Given the description of an element on the screen output the (x, y) to click on. 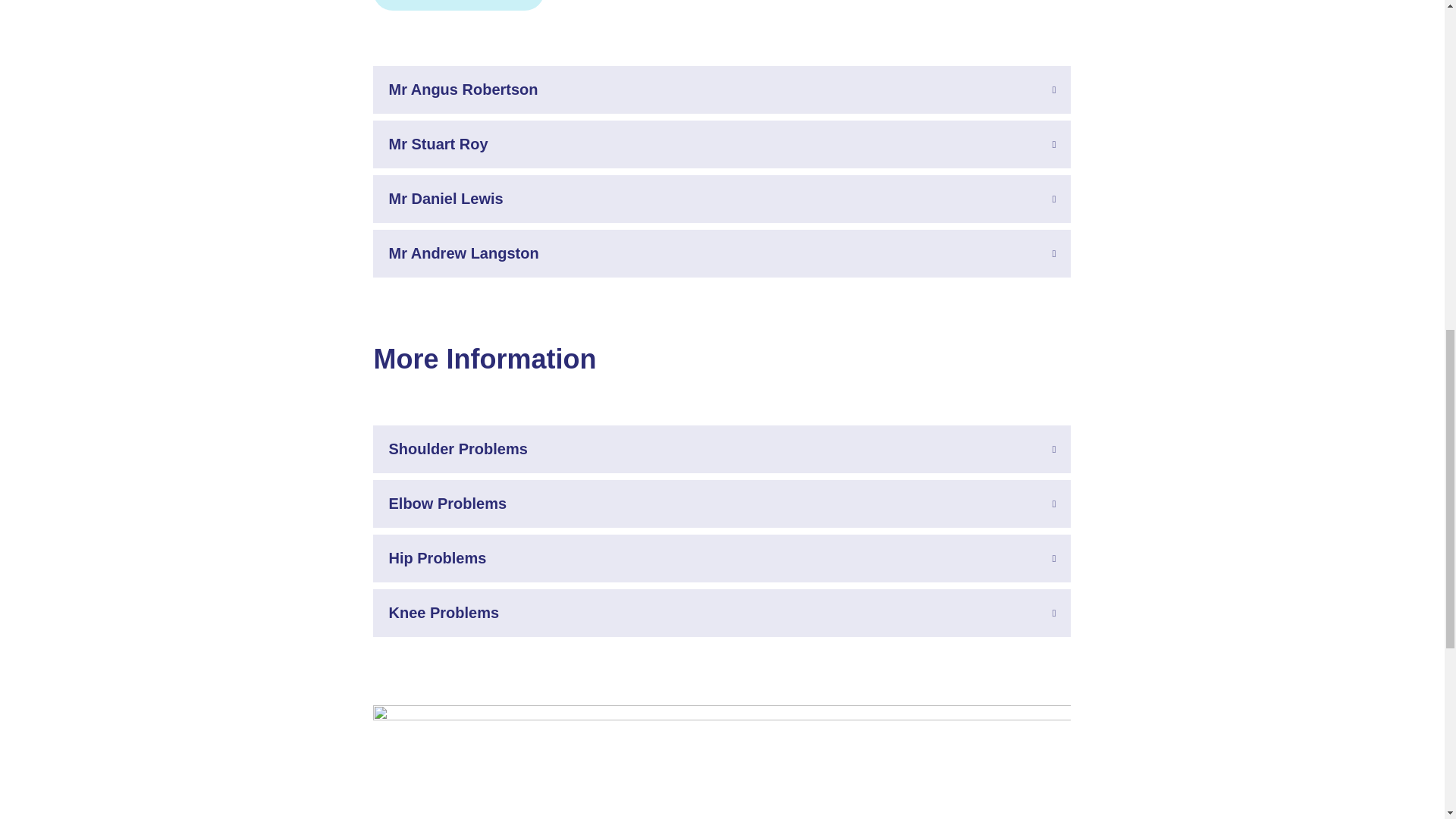
Mr Andrew Langston (721, 253)
Mr Daniel Lewis (721, 198)
Mr Angus Robertson (721, 89)
Elbow Problems (721, 503)
Hip Problems (721, 558)
Book an Appointment (458, 5)
Shoulder Problems (721, 449)
Mr Stuart Roy (721, 144)
Knee Problems (721, 612)
